Given the description of an element on the screen output the (x, y) to click on. 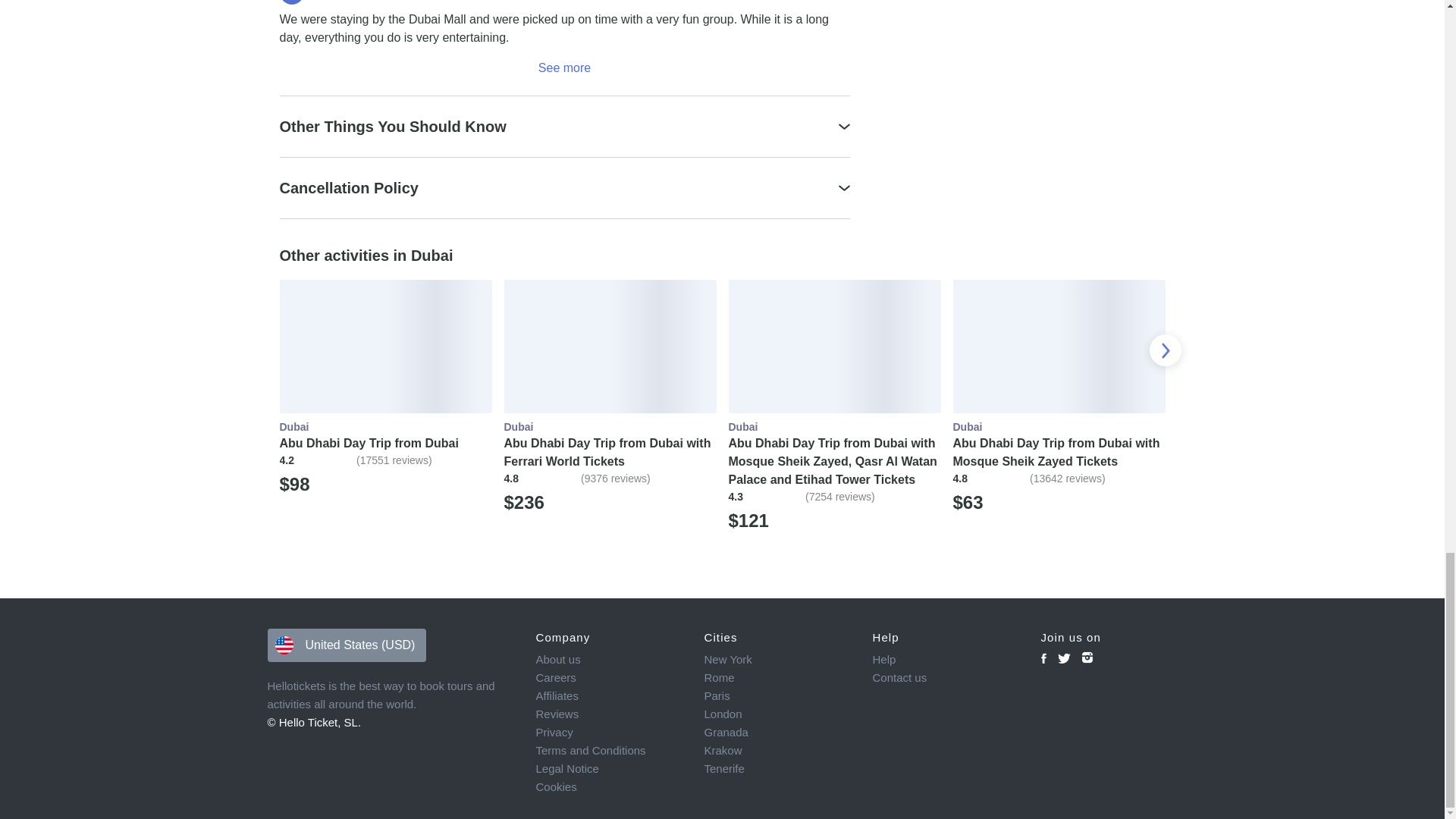
About us (608, 659)
London (776, 714)
Affiliates (608, 696)
Cookies (608, 787)
Reviews (608, 714)
Privacy (608, 732)
Paris (776, 696)
Terms and Conditions (608, 751)
See more (563, 67)
Careers (608, 678)
